Given the description of an element on the screen output the (x, y) to click on. 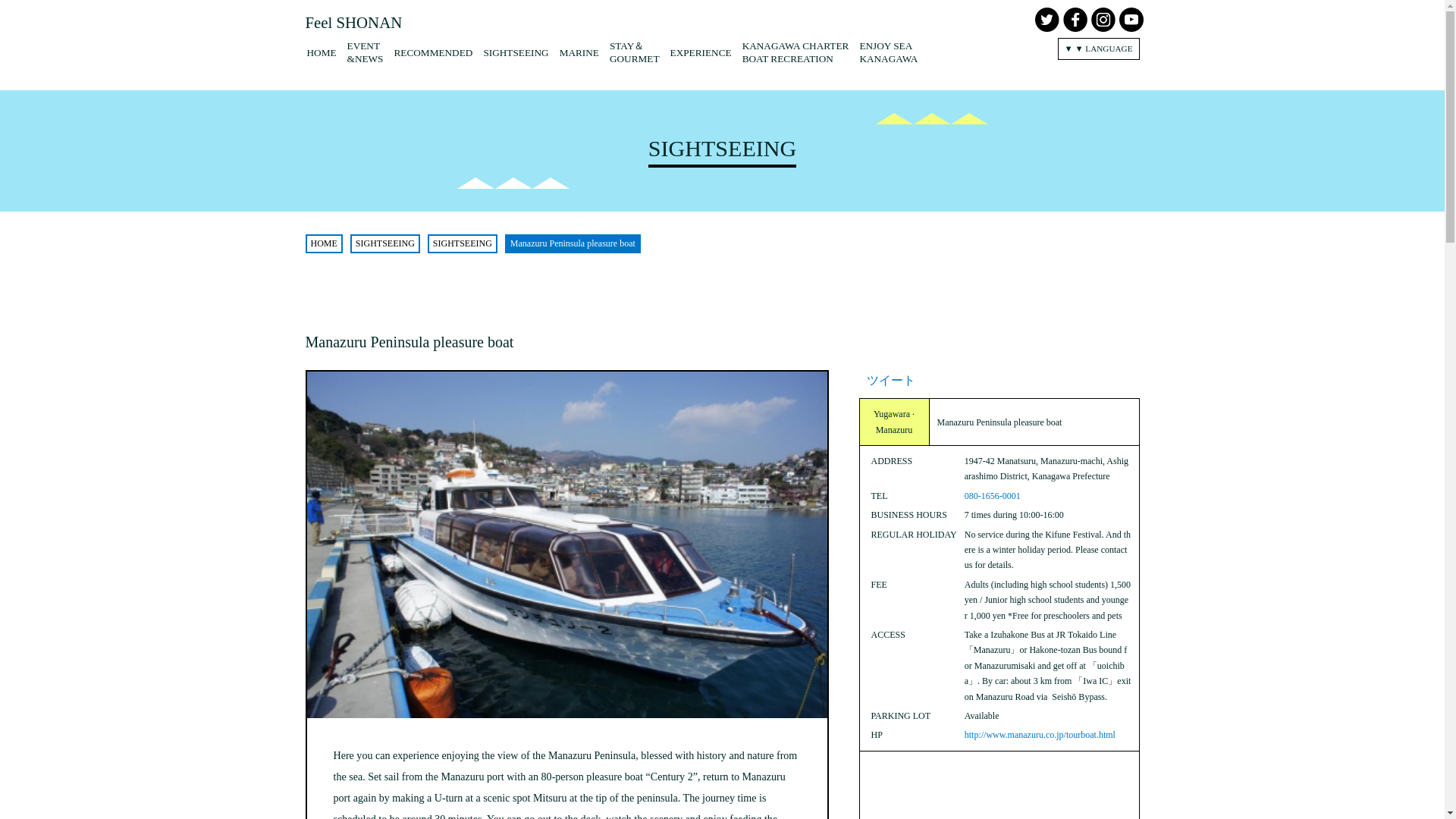
RECOMMENDED (432, 52)
SIGHTSEEING (795, 52)
EXPERIENCE (462, 243)
Feel SHONAN (700, 52)
MARINE (352, 22)
080-1656-0001 (578, 52)
SIGHTSEEING (991, 495)
HOME (385, 243)
SIGHTSEEING (322, 243)
HOME (887, 52)
